Given the description of an element on the screen output the (x, y) to click on. 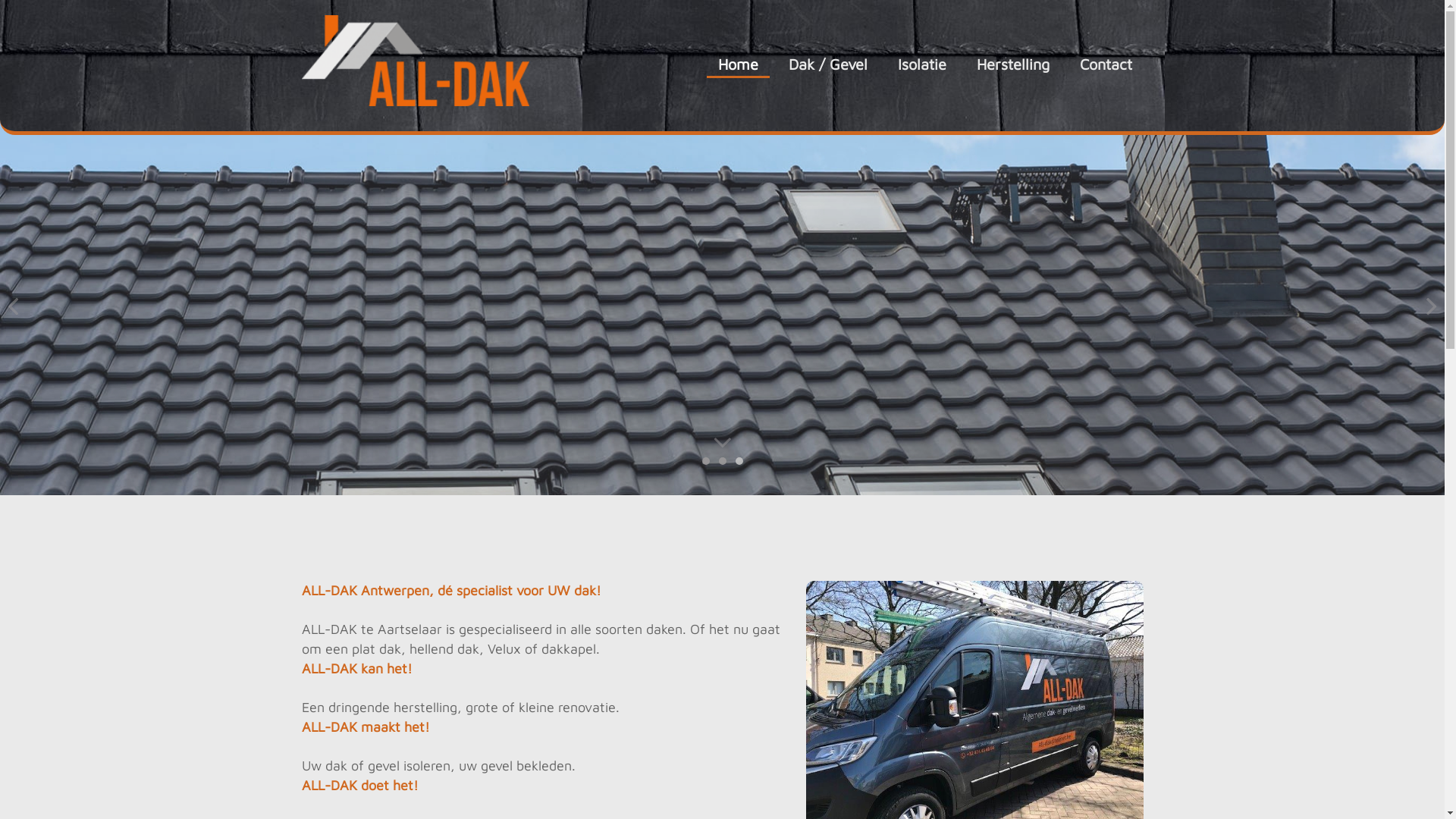
3 Element type: text (739, 460)
1 Element type: text (705, 460)
Dak / Gevel Element type: text (827, 64)
Contact Element type: text (1104, 64)
Home Element type: text (737, 65)
Isolatie Element type: text (921, 64)
2 Element type: text (722, 460)
Herstelling Element type: text (1012, 64)
